Given the description of an element on the screen output the (x, y) to click on. 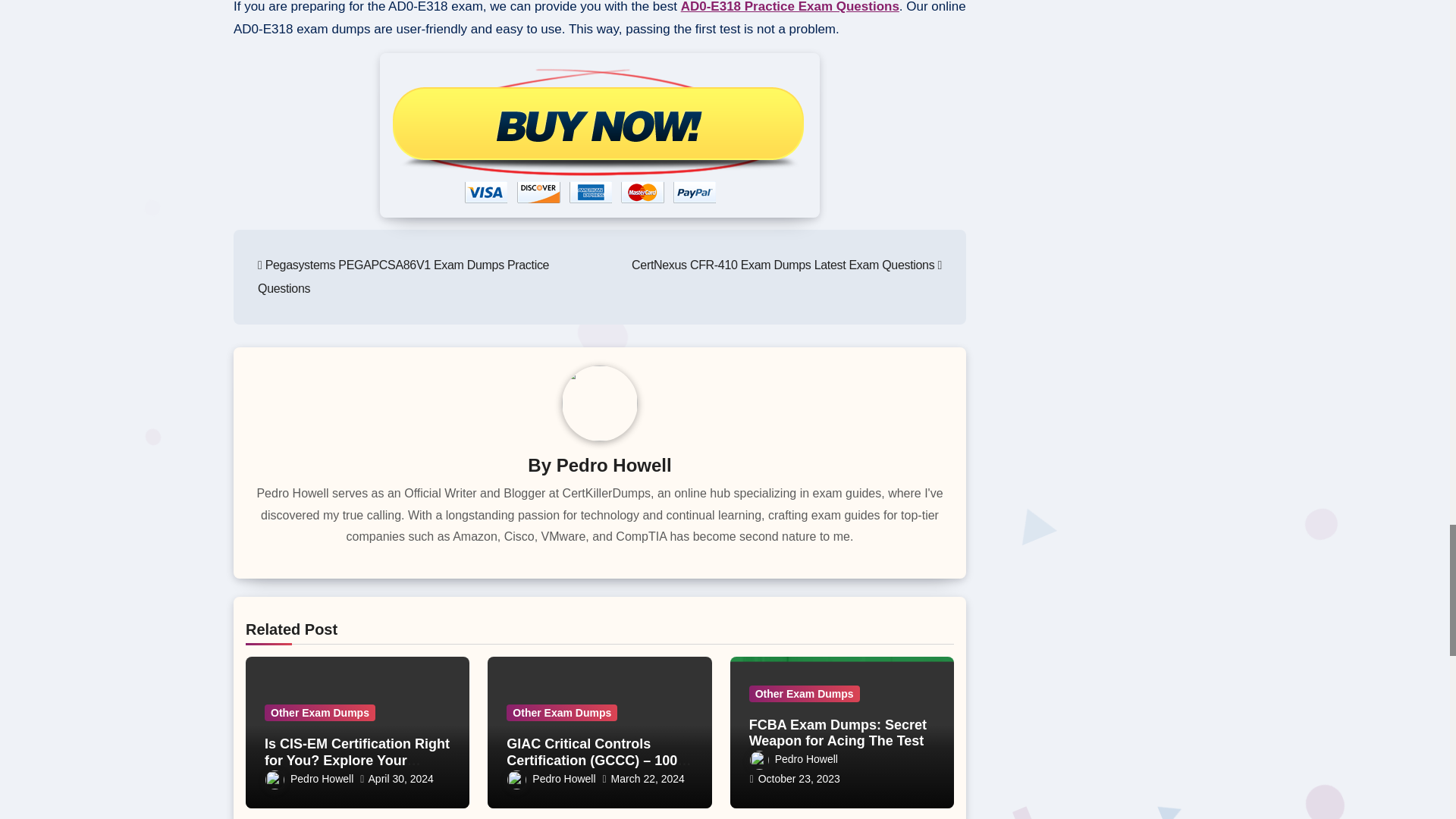
AD0-E318 Practice Exam Questions (790, 6)
